Given the description of an element on the screen output the (x, y) to click on. 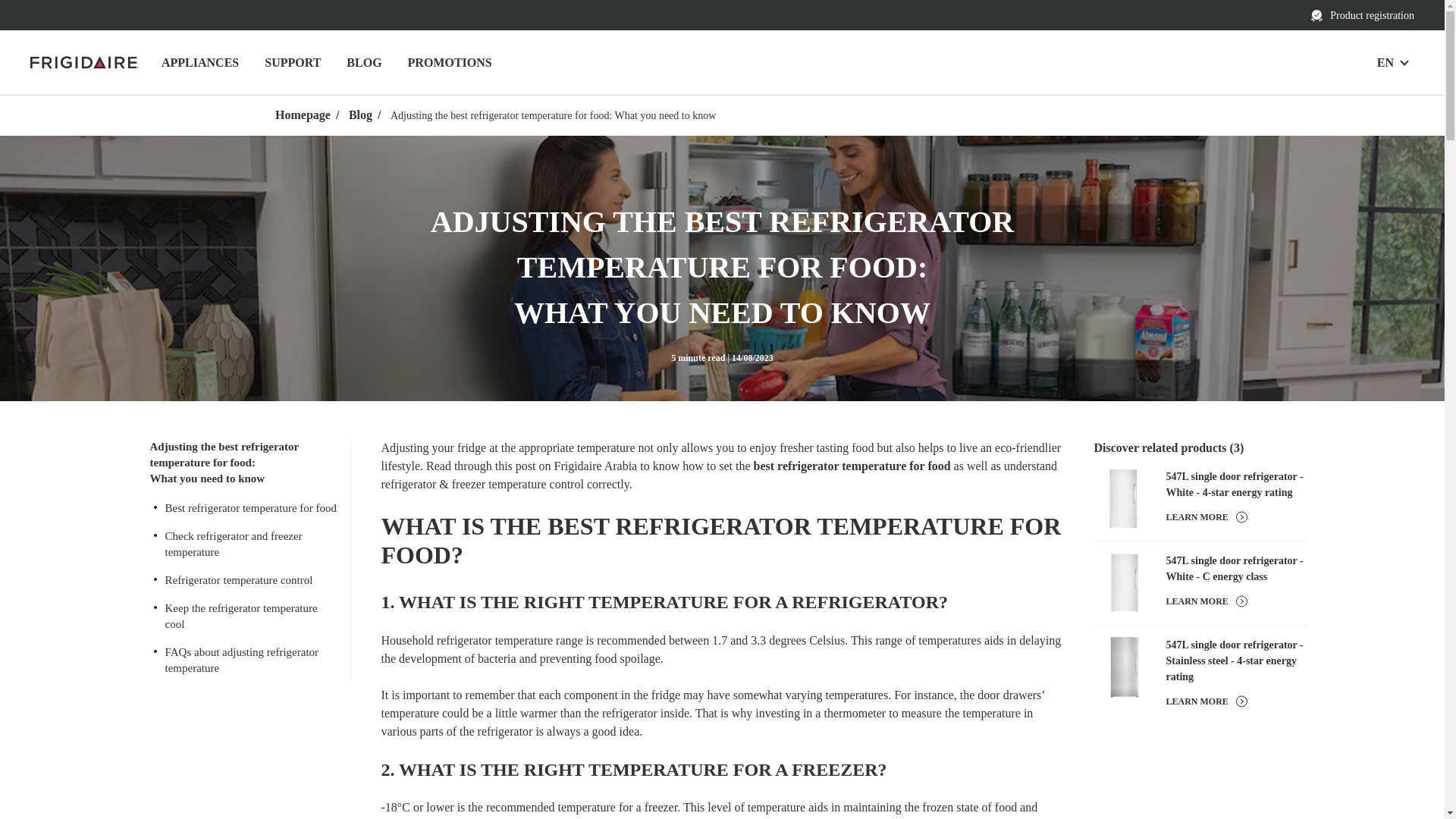
BLOG (363, 61)
Check refrigerator and freezer temperature (243, 544)
Homepage (302, 115)
FAQs about adjusting refrigerator temperature (243, 660)
APPLIANCES (199, 61)
Blog (360, 115)
PROMOTIONS (449, 61)
Refrigerator temperature control (243, 580)
Product registration (1362, 15)
Best refrigerator temperature for food (243, 508)
Keep the refrigerator temperature cool (243, 616)
SUPPORT (292, 61)
